Given the description of an element on the screen output the (x, y) to click on. 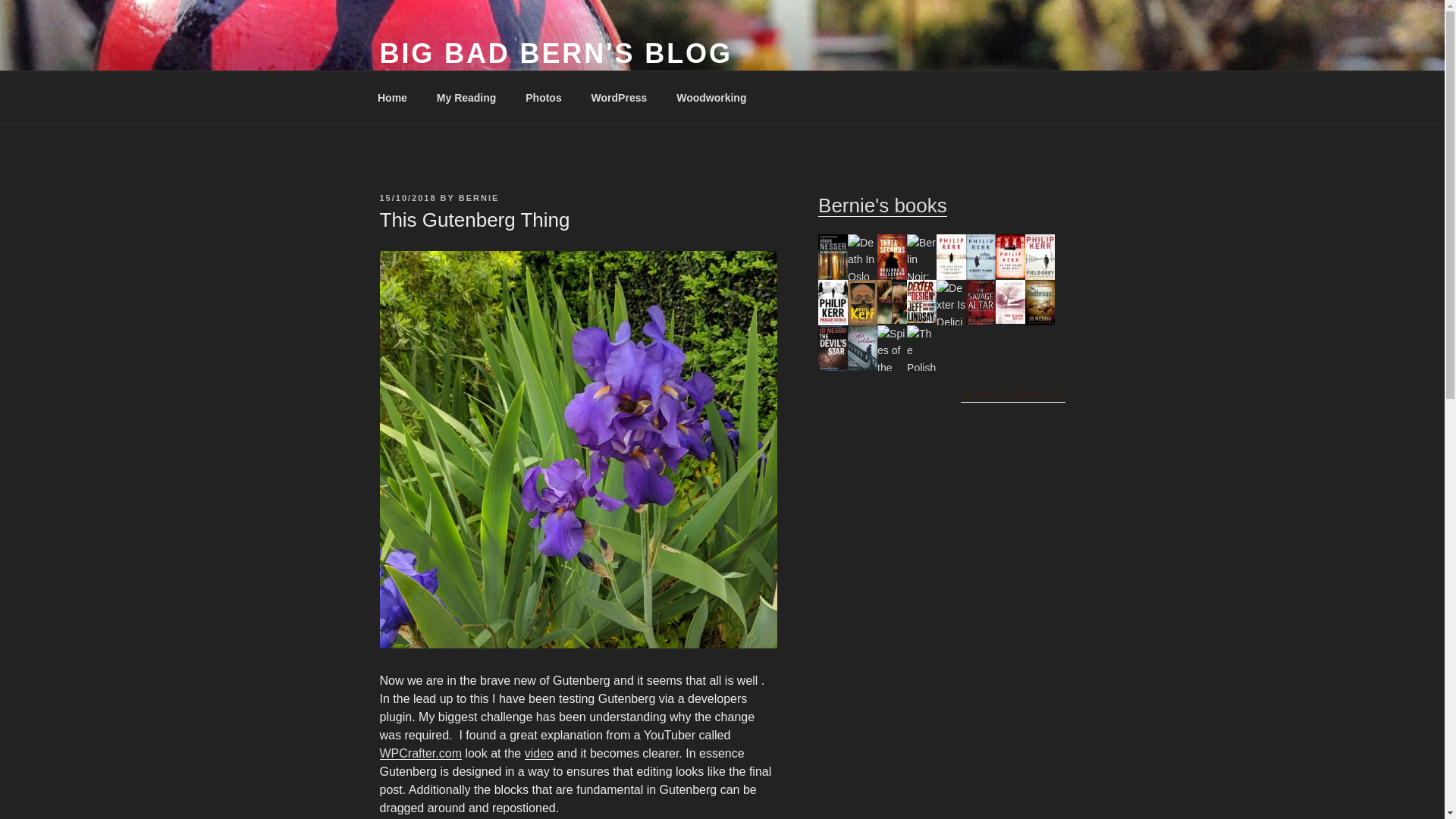
BERNIE (478, 197)
WordPress (619, 97)
Death In Oslo (862, 276)
My Reading (466, 97)
A Quiet Flame (980, 276)
Bernie's books (882, 205)
Woodworking (711, 97)
Home (392, 97)
video (538, 753)
